Given the description of an element on the screen output the (x, y) to click on. 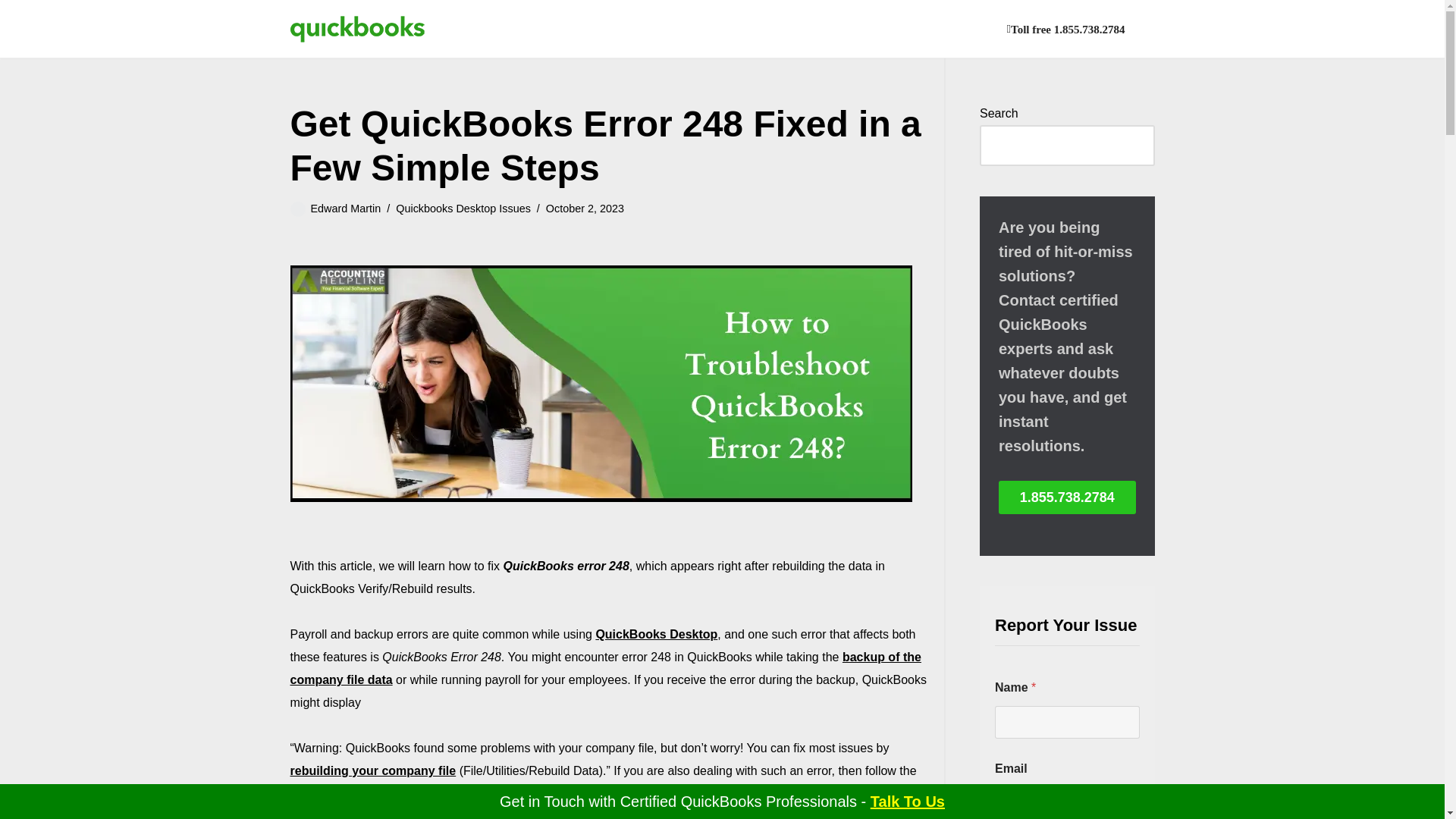
Posts by Edward Martin (346, 208)
QuickBooks Desktop (656, 634)
Quickbooks Desktop Issues (463, 208)
Skip to content (11, 31)
rebuilding your company file (372, 770)
Edward Martin (346, 208)
Toll free 1.855.738.2784 (1066, 28)
backup of the company file data (604, 668)
